Given the description of an element on the screen output the (x, y) to click on. 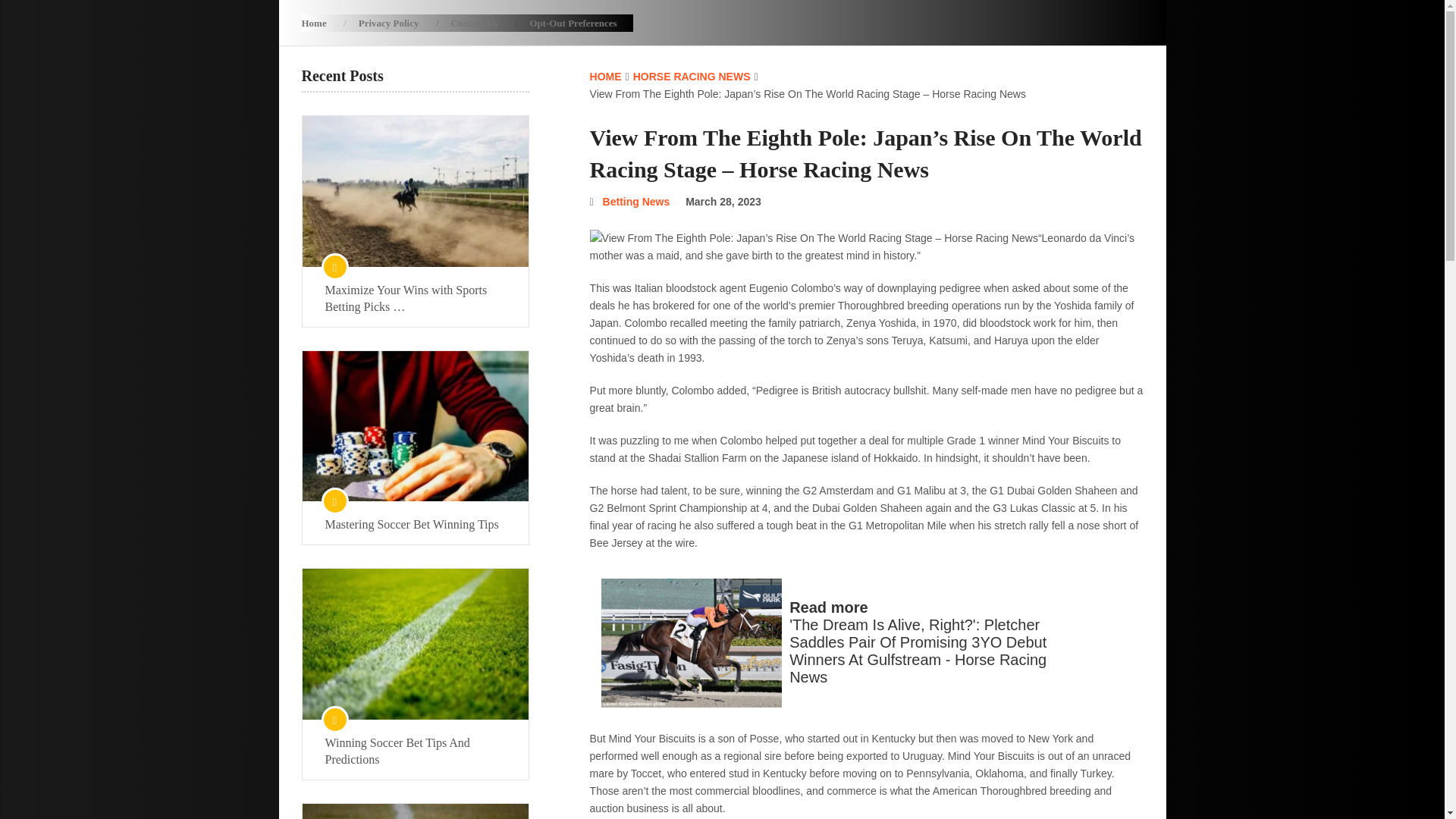
HORSE RACING NEWS (692, 76)
Privacy Policy (388, 22)
HOME (605, 76)
Maximize Your Wins with Sports Betting Picks Forum (414, 298)
Contact Us (474, 22)
Betting News (635, 201)
Winning Soccer Bet Tips And Predictions (414, 751)
Mastering Soccer Bet Winning Tips (414, 426)
Mastering Soccer Bet Winning Tips (414, 524)
Maximize Your Wins with Sports Betting Picks Forum (414, 191)
Win Big with These Rugby Bet Tips (414, 811)
Home (321, 22)
Winning Soccer Bet Tips And Predictions (414, 643)
Posts by Betting News (635, 201)
